Given the description of an element on the screen output the (x, y) to click on. 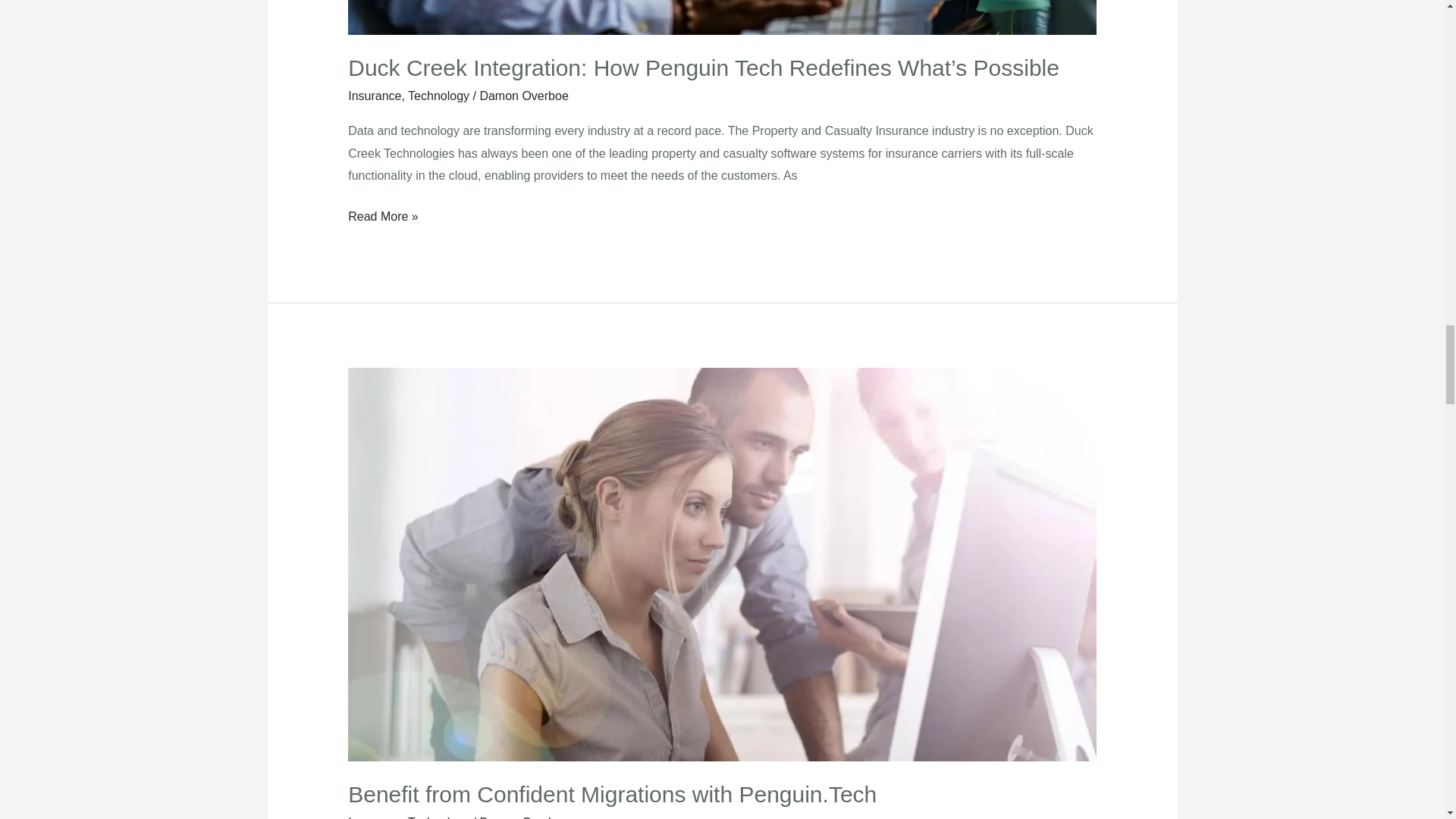
Damon Overboe (523, 95)
View all posts by Damon Overboe (523, 817)
View all posts by Damon Overboe (523, 95)
Benefit from Confident Migrations with Penguin.Tech (611, 794)
Technology (437, 95)
Insurance (374, 95)
